Given the description of an element on the screen output the (x, y) to click on. 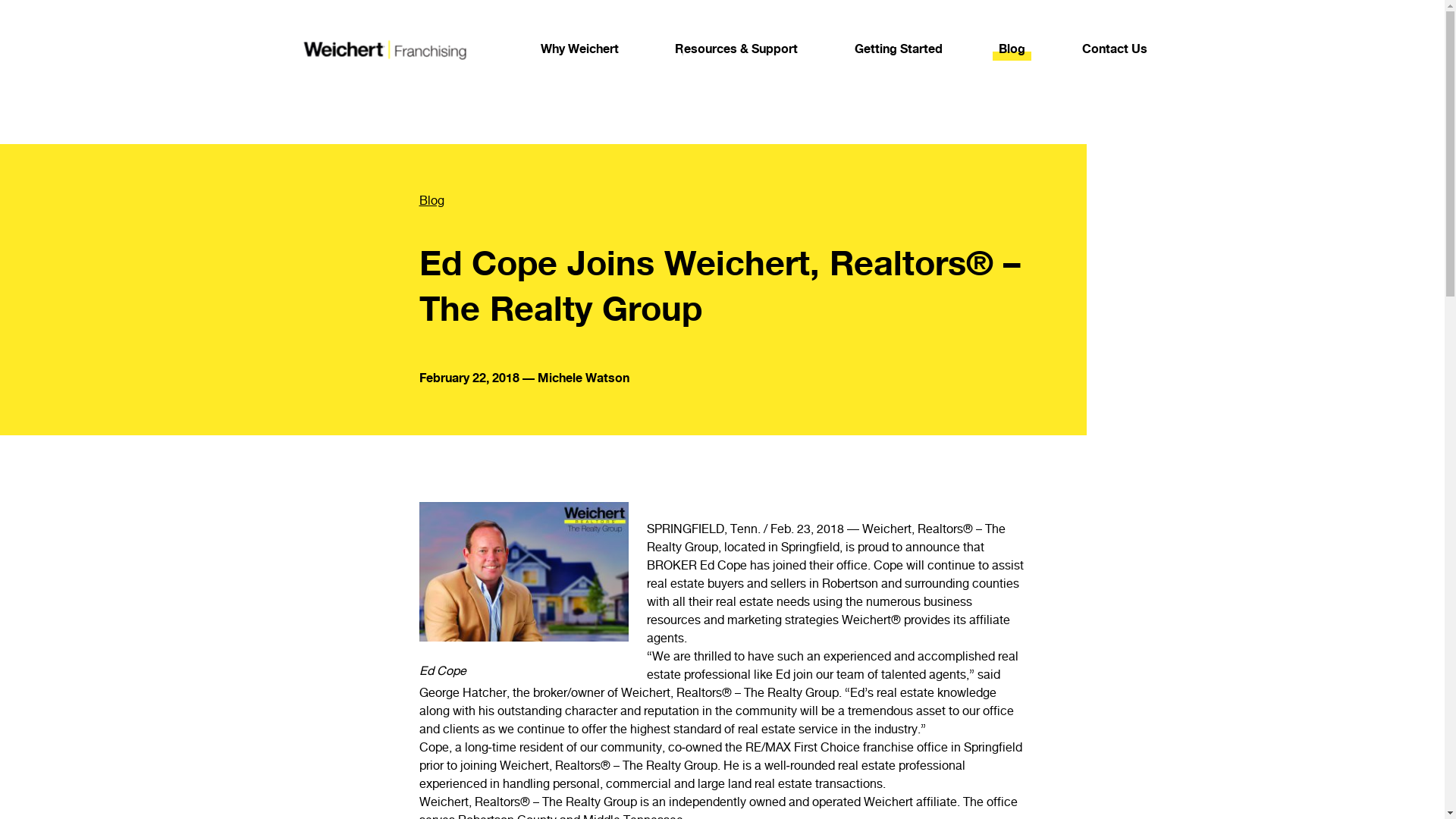
Blog (1011, 48)
Blog (702, 200)
Contact Us (1114, 48)
Home (382, 49)
Why Weichert (578, 48)
Getting Started (897, 48)
